Given the description of an element on the screen output the (x, y) to click on. 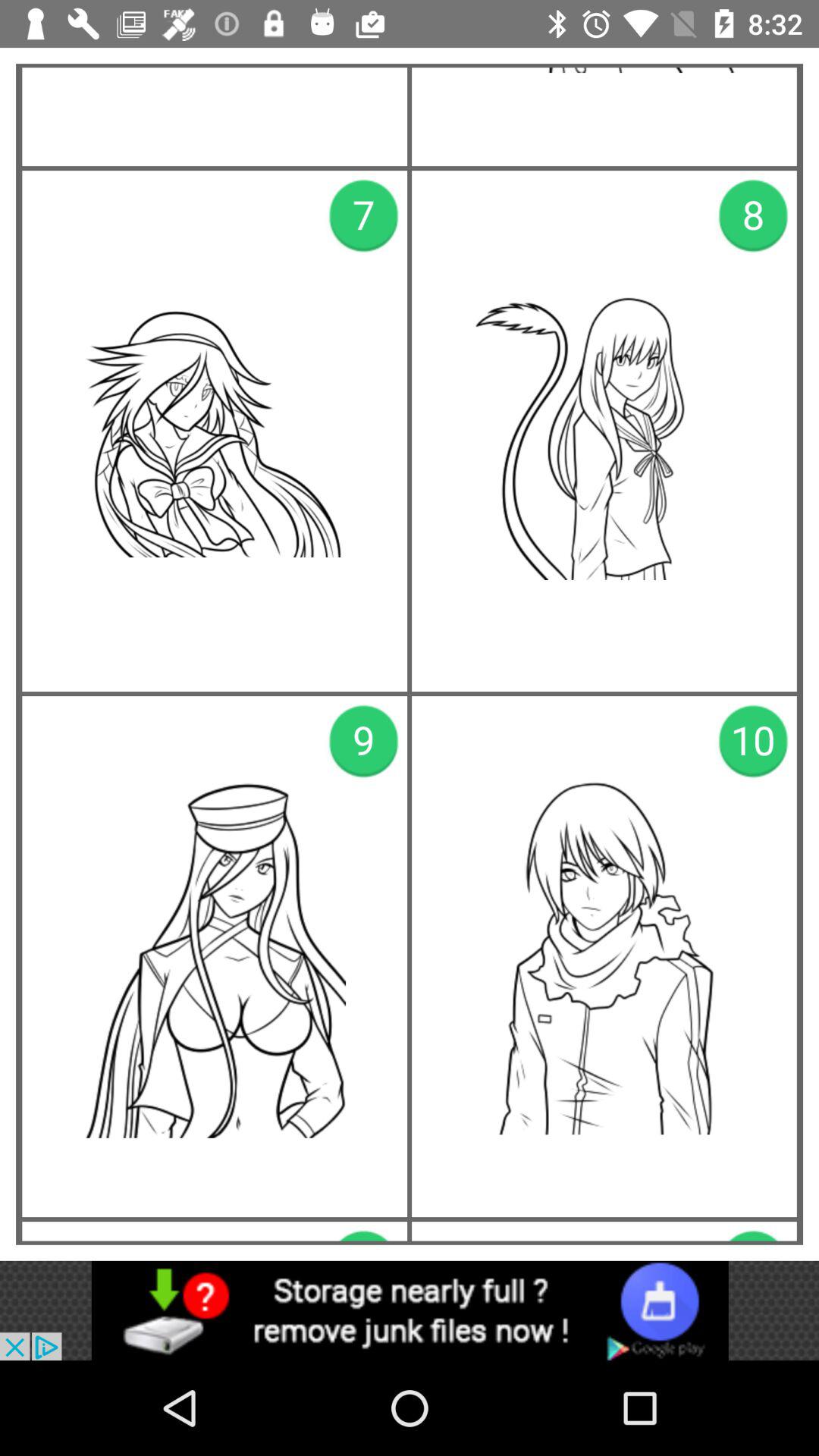
app download (409, 1310)
